Given the description of an element on the screen output the (x, y) to click on. 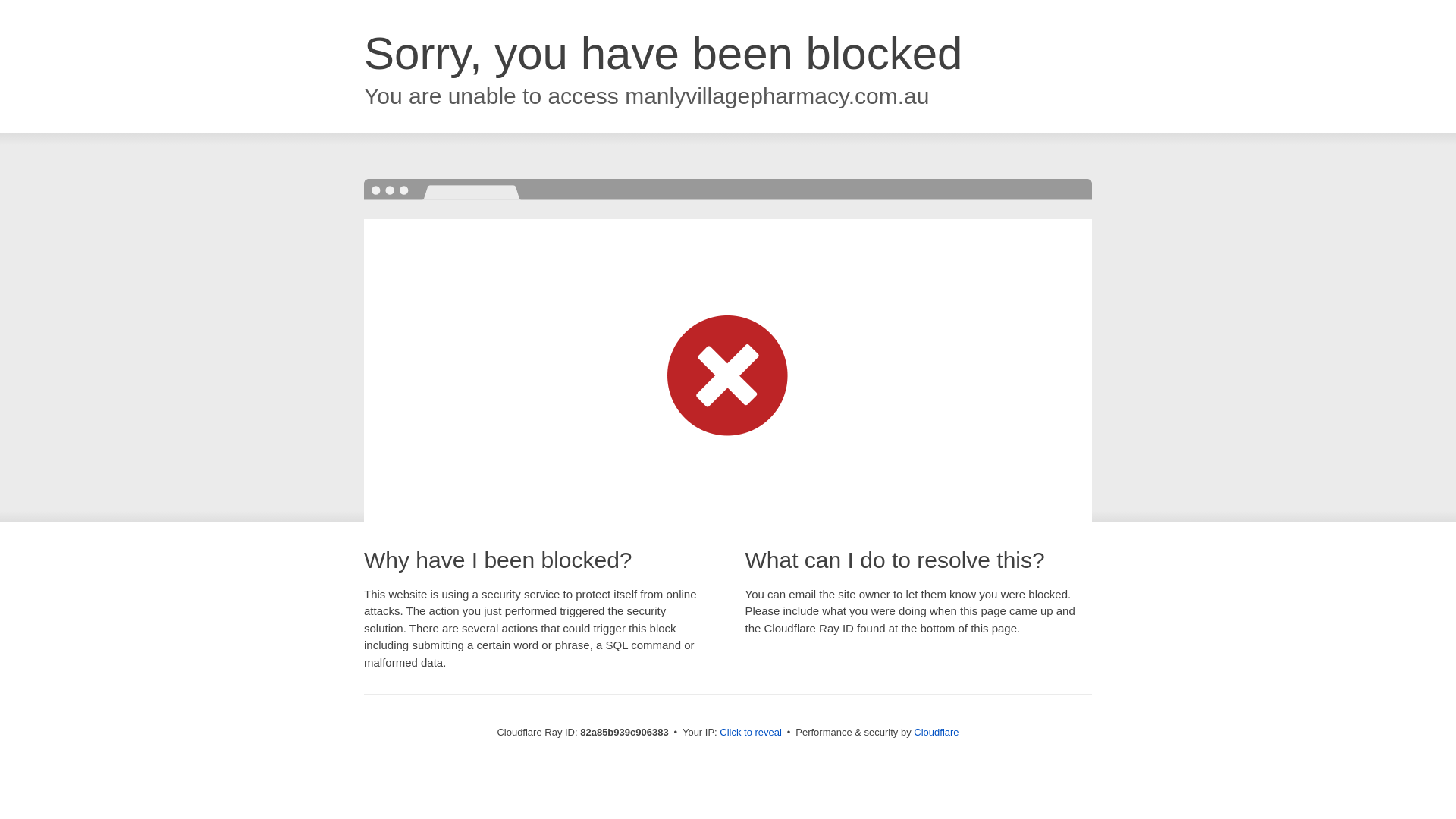
Click to reveal Element type: text (750, 732)
Cloudflare Element type: text (935, 731)
